Given the description of an element on the screen output the (x, y) to click on. 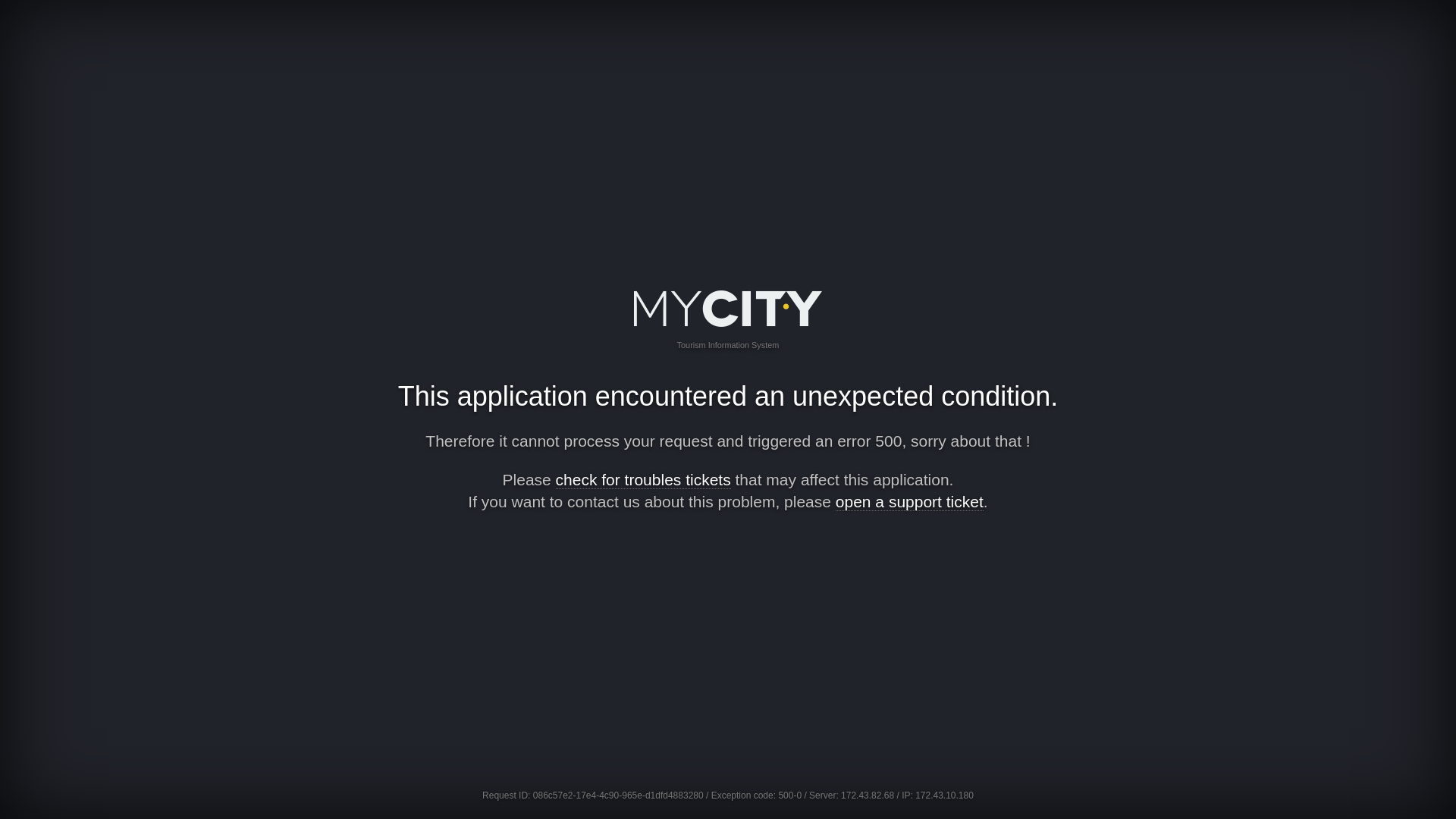
check for troubles tickets (643, 479)
Tourism Information System (727, 336)
open a support ticket (909, 502)
